Given the description of an element on the screen output the (x, y) to click on. 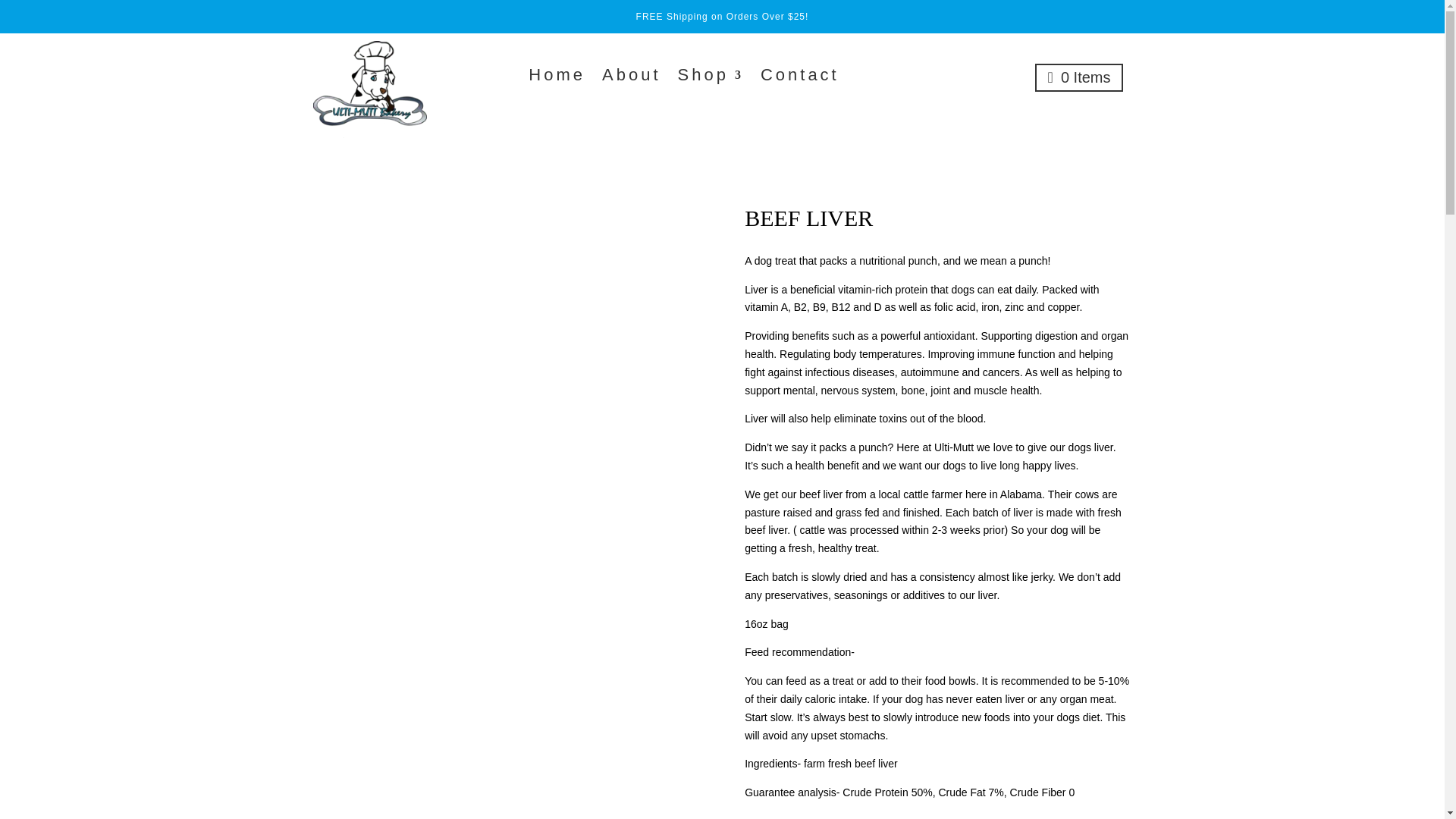
Shop (711, 77)
0 Items (1079, 77)
Contact (800, 77)
About (631, 77)
Home (556, 77)
ulti mutt bakery logo transparent (369, 89)
